Given the description of an element on the screen output the (x, y) to click on. 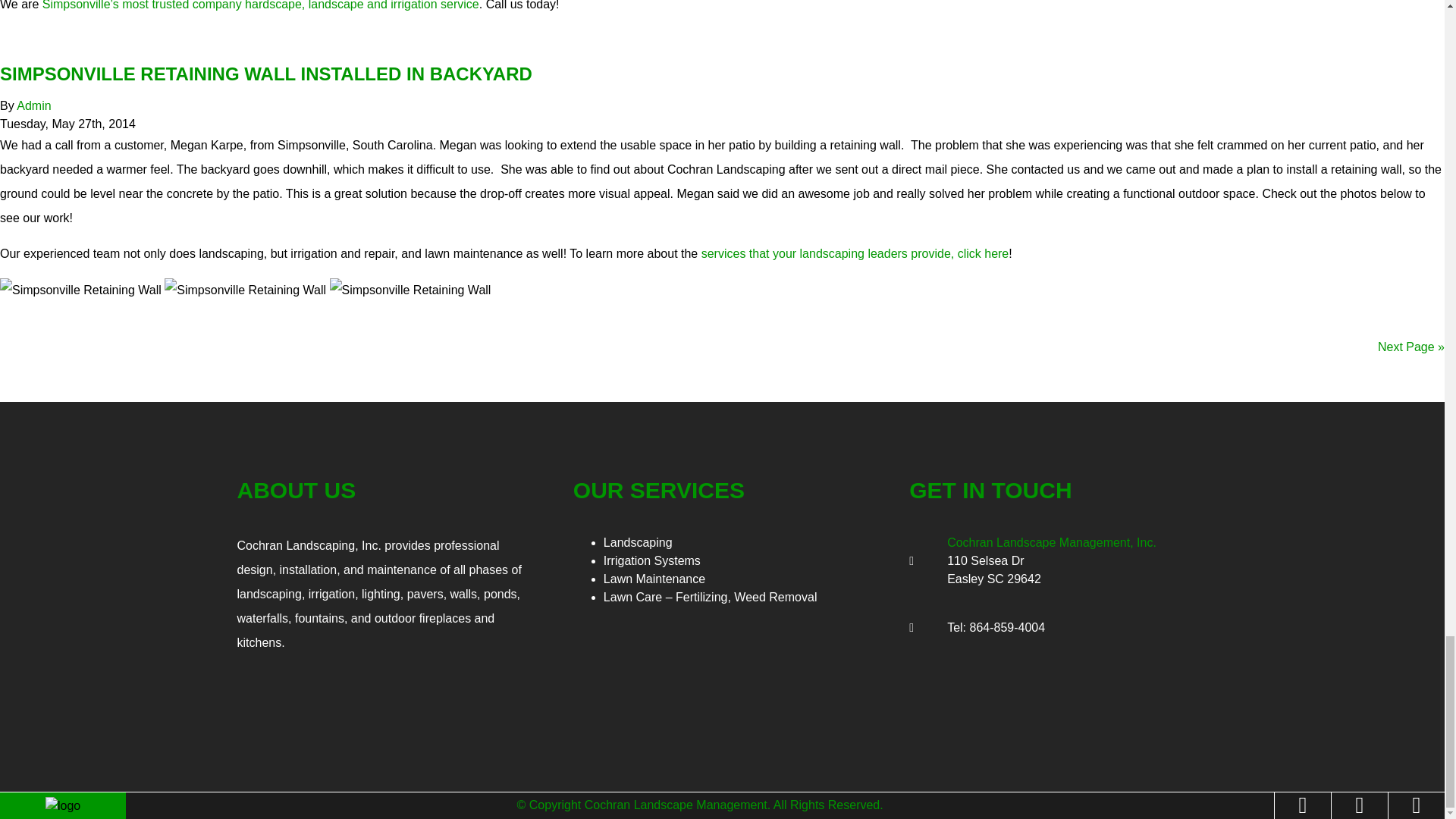
Admin (33, 105)
